Given the description of an element on the screen output the (x, y) to click on. 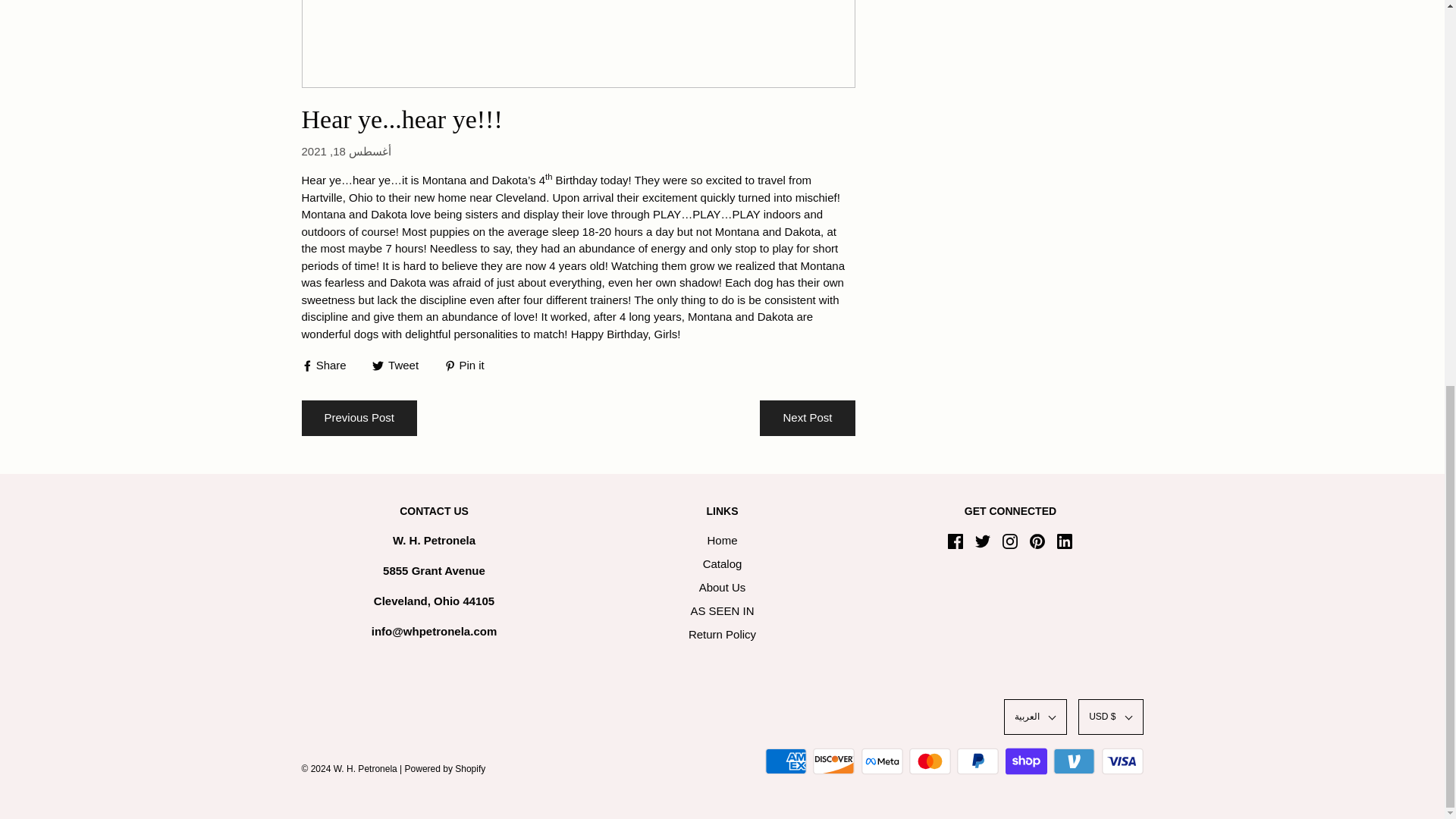
American Express (785, 761)
Share (325, 364)
Twitter icon (982, 540)
Pin it (464, 364)
LinkedIn icon (1064, 540)
Facebook icon (954, 540)
Tweet (397, 364)
Pinterest icon (1037, 540)
Discover (833, 761)
Instagram icon (1010, 540)
